Given the description of an element on the screen output the (x, y) to click on. 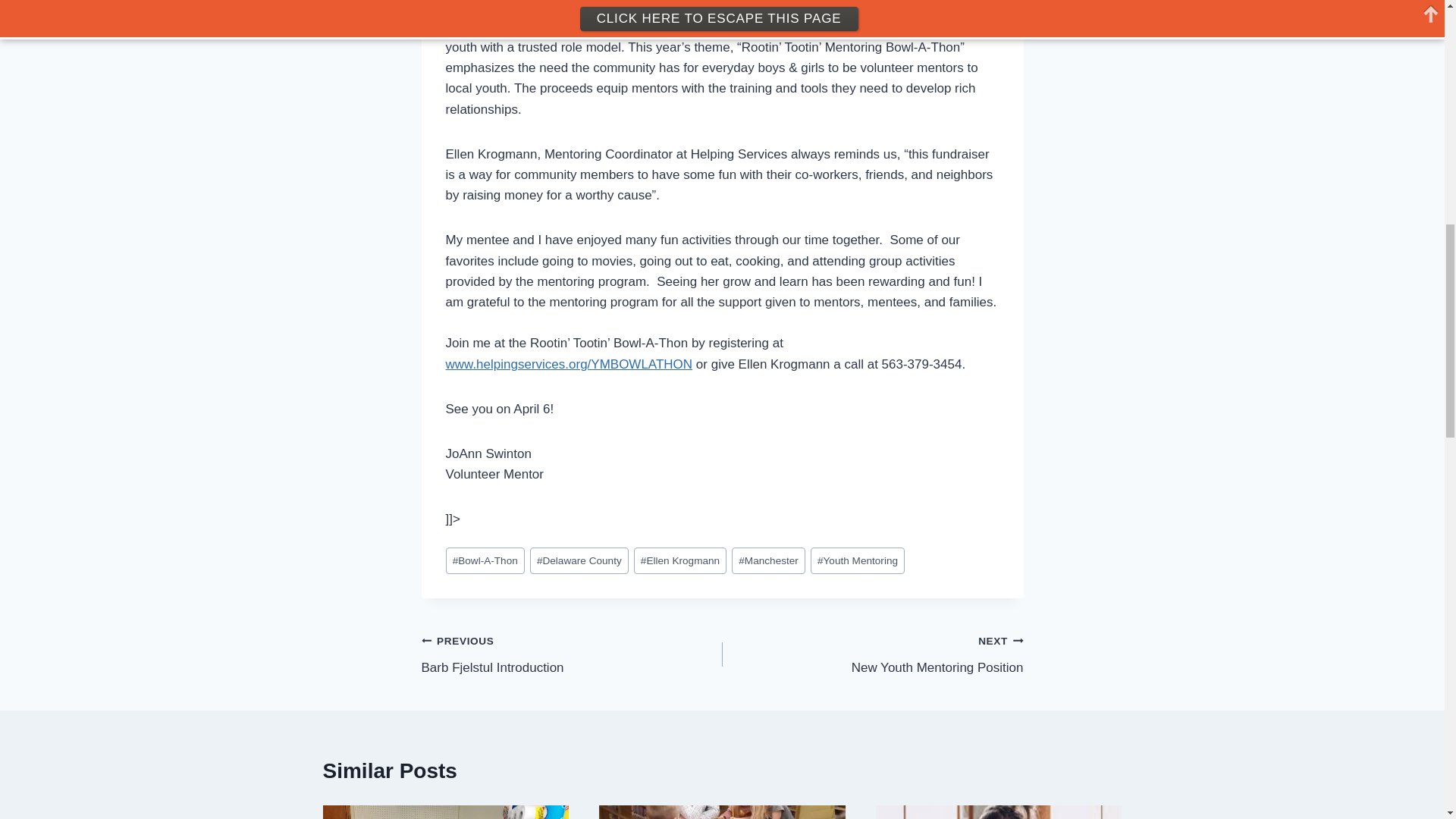
Ellen Krogmann (679, 560)
Manchester (768, 560)
Delaware County (578, 560)
Bowl-A-Thon (484, 560)
Youth Mentoring (857, 560)
